Given the description of an element on the screen output the (x, y) to click on. 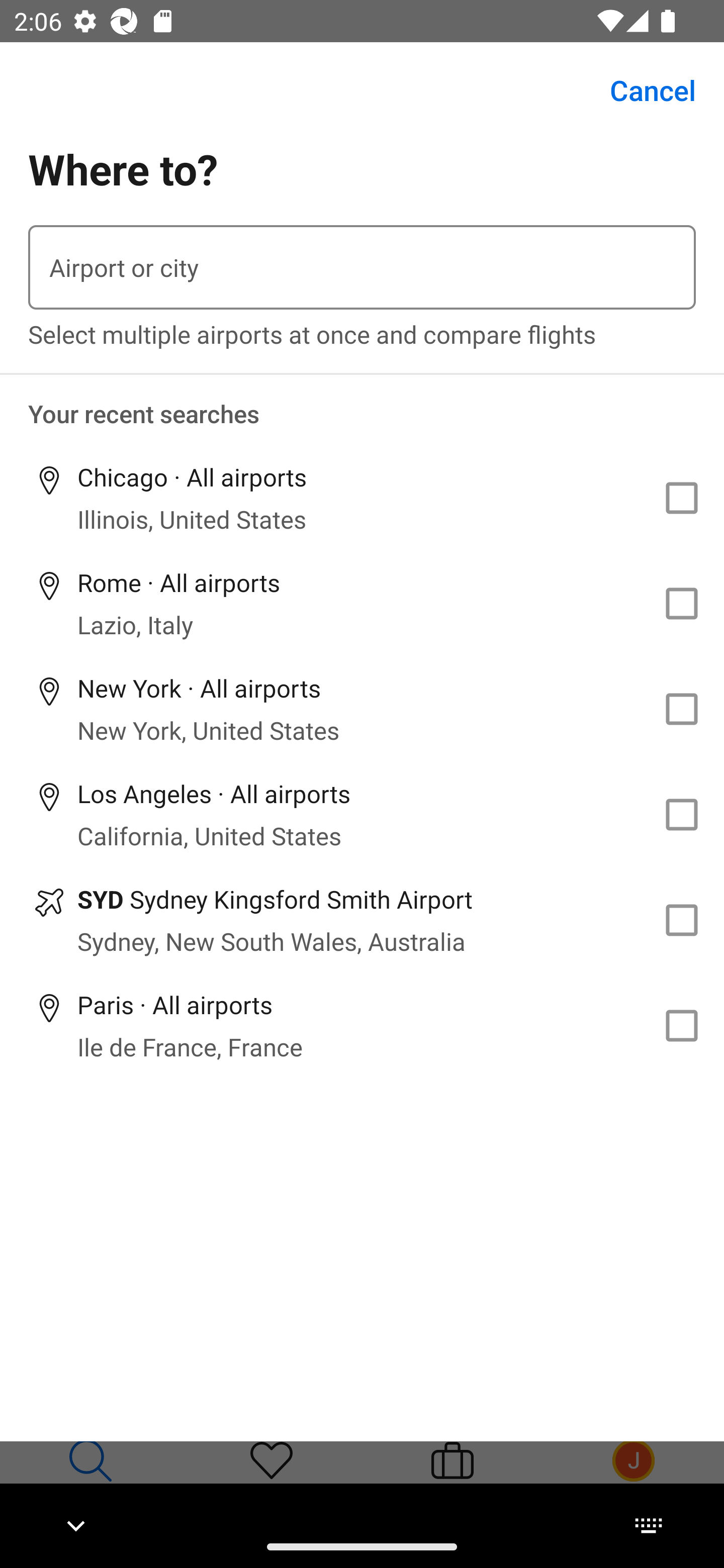
Cancel (641, 90)
Airport or city (361, 266)
Chicago · All airports Illinois, United States (362, 497)
Rome · All airports Lazio, Italy (362, 603)
New York · All airports New York, United States (362, 709)
Paris · All airports Ile de France, France (362, 1025)
